Given the description of an element on the screen output the (x, y) to click on. 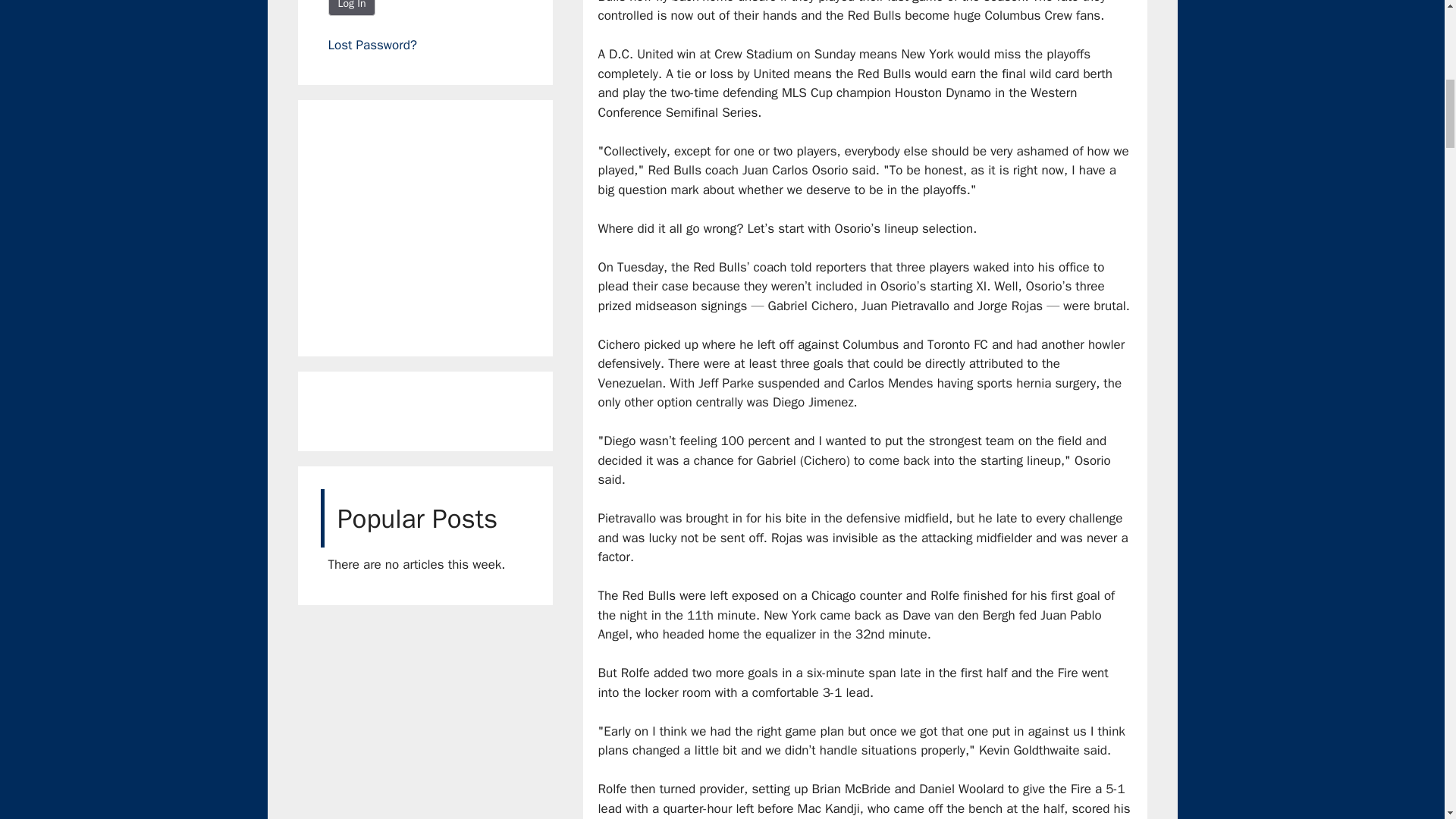
Advertisement (440, 225)
Log In (351, 8)
